Given the description of an element on the screen output the (x, y) to click on. 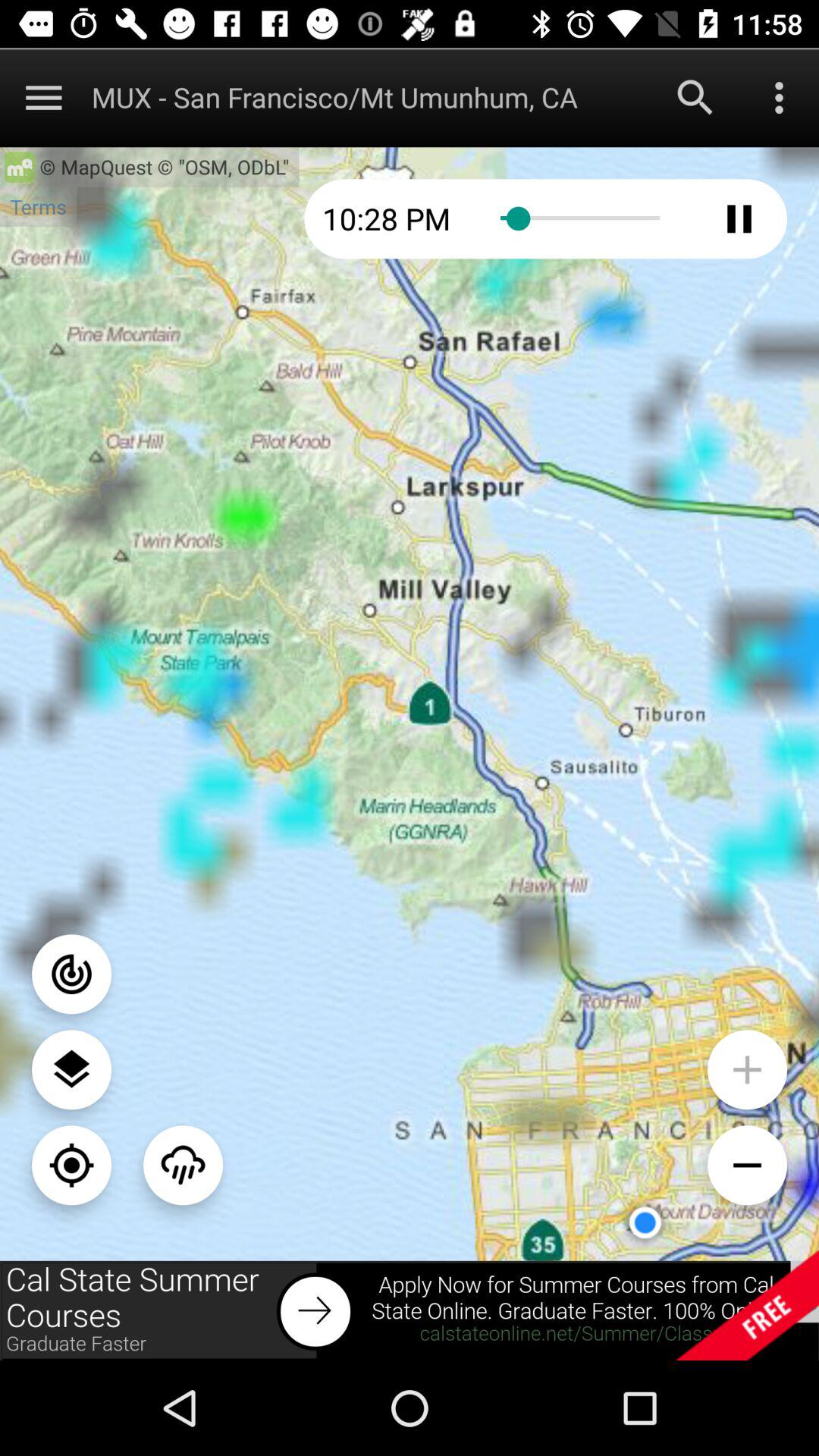
toggle to pause radar (739, 218)
